Given the description of an element on the screen output the (x, y) to click on. 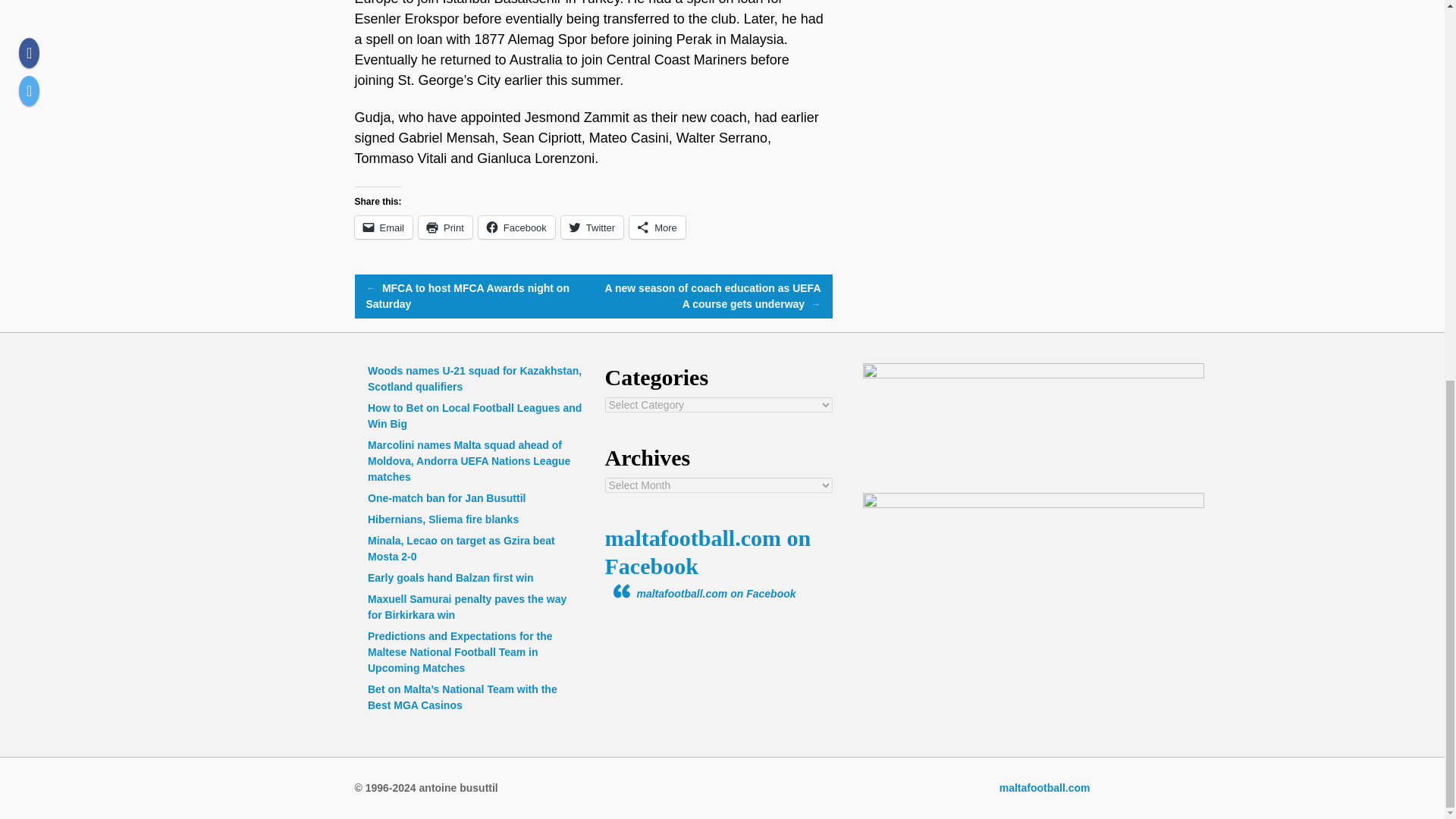
Click to share on Twitter (591, 227)
Click to print (445, 227)
Click to share on Facebook (516, 227)
Click to email a link to a friend (384, 227)
